Given the description of an element on the screen output the (x, y) to click on. 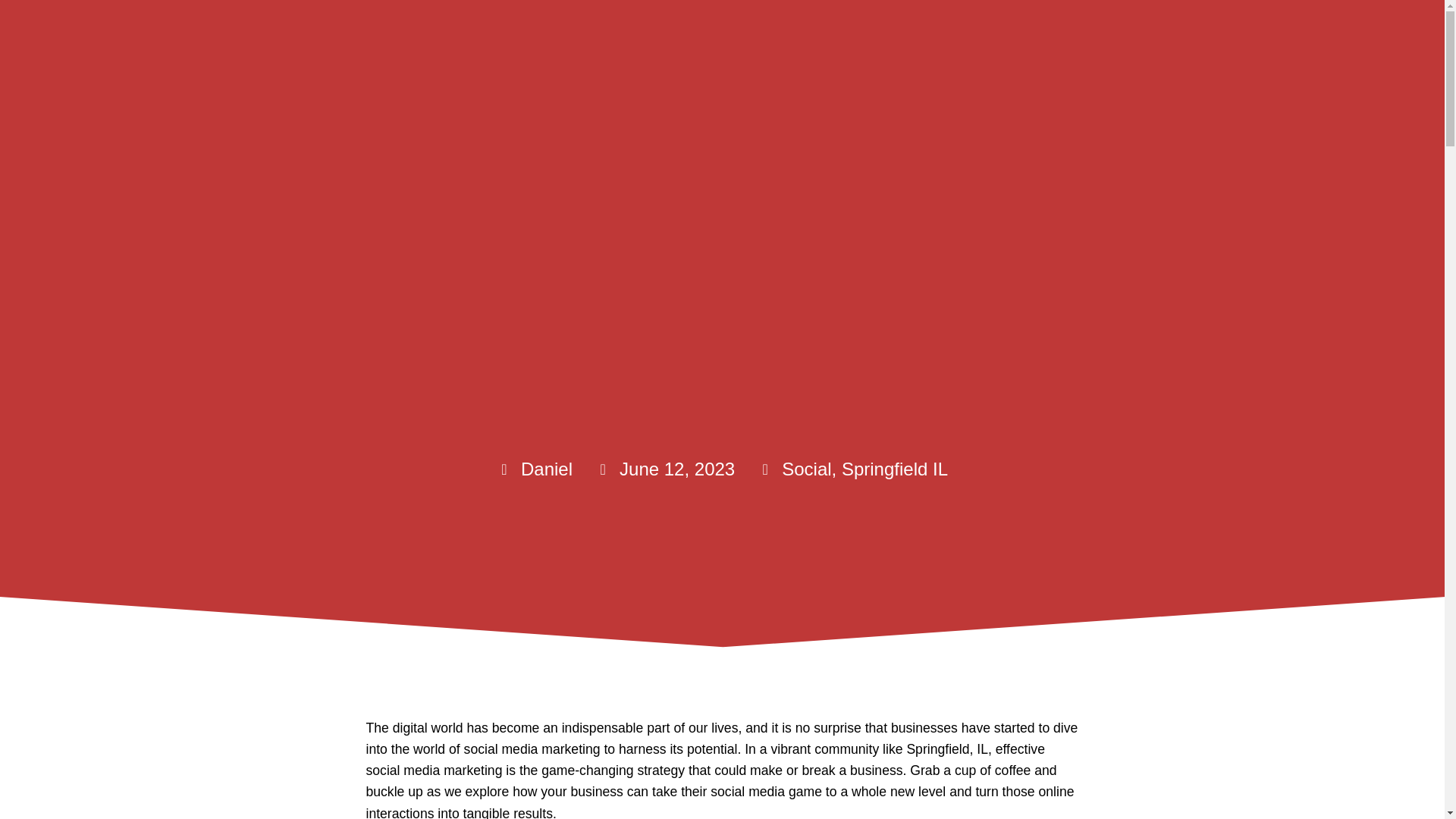
June 12, 2023 (665, 468)
Social (806, 468)
Daniel (534, 468)
Springfield IL (894, 468)
